Given the description of an element on the screen output the (x, y) to click on. 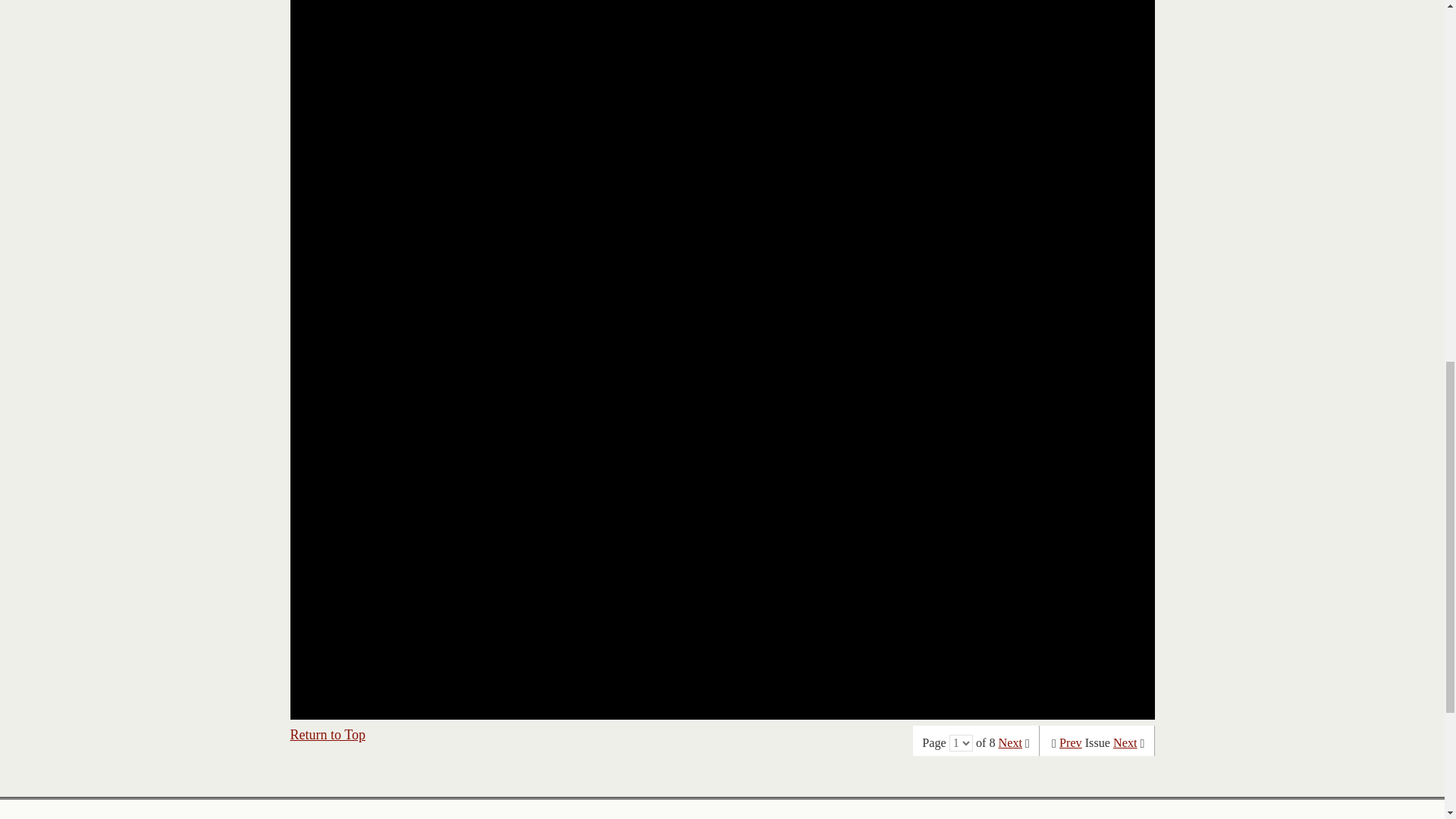
Next (1010, 743)
Next (1125, 743)
Prev (1070, 743)
Return to Top (327, 734)
